Given the description of an element on the screen output the (x, y) to click on. 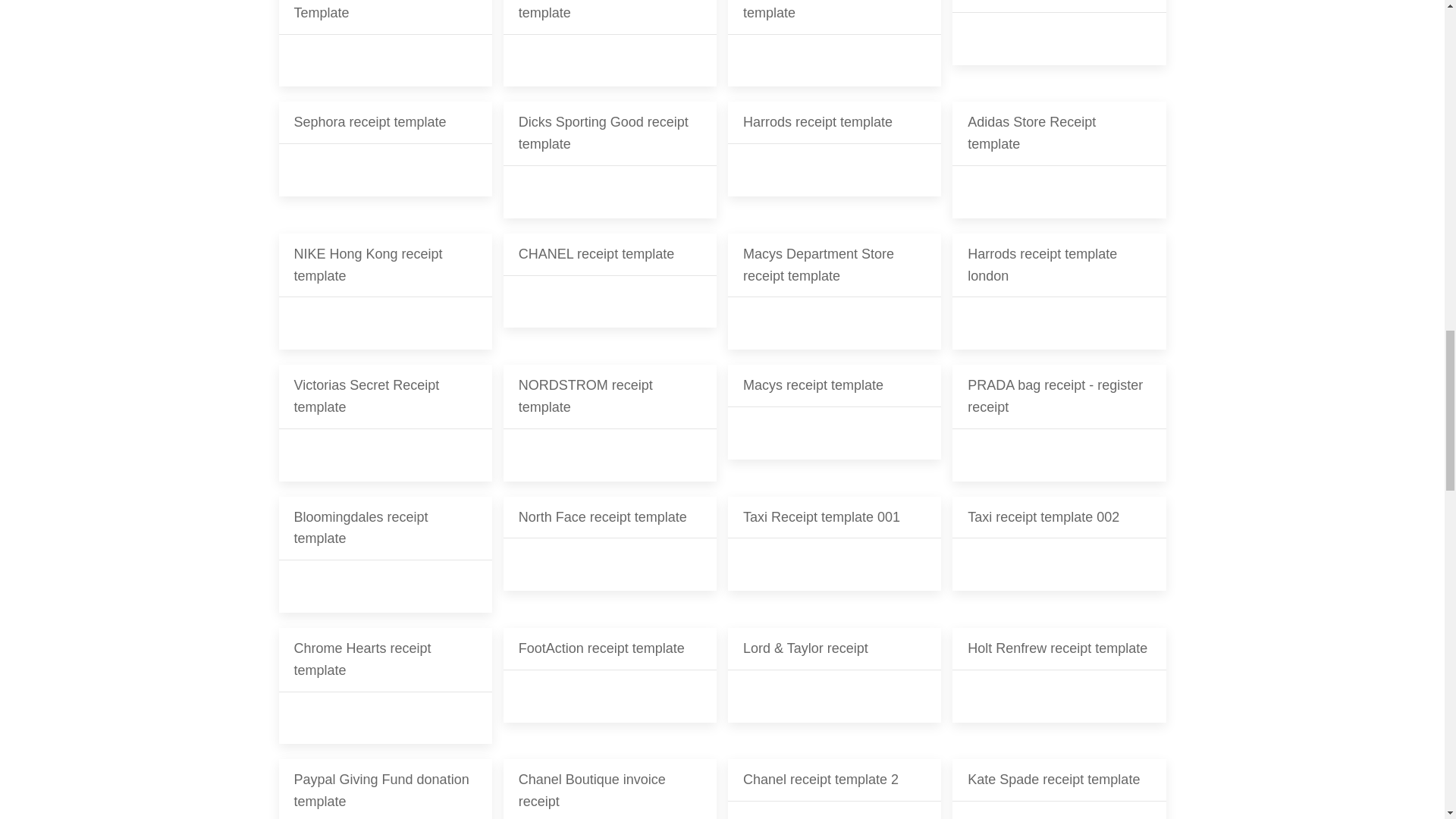
CHANEL receipt template (609, 291)
Versace receipt template (1059, 43)
SAKS Fifth Ave Receipt Template (385, 43)
Dicks Sporting Good receipt template (609, 159)
Harrods receipt template (834, 159)
Louis Vuitton receipt pdf template (834, 43)
Sephora receipt template (385, 159)
Macys receipt template (834, 422)
Victorias Secret Receipt template (385, 422)
NIKE Hong Kong receipt template (385, 291)
Nike Factory Store receipt template (609, 43)
Adidas Store Receipt template (1059, 159)
Macys Department Store receipt template (834, 291)
NORDSTROM receipt template (609, 422)
Harrods receipt template london (1059, 291)
